Given the description of an element on the screen output the (x, y) to click on. 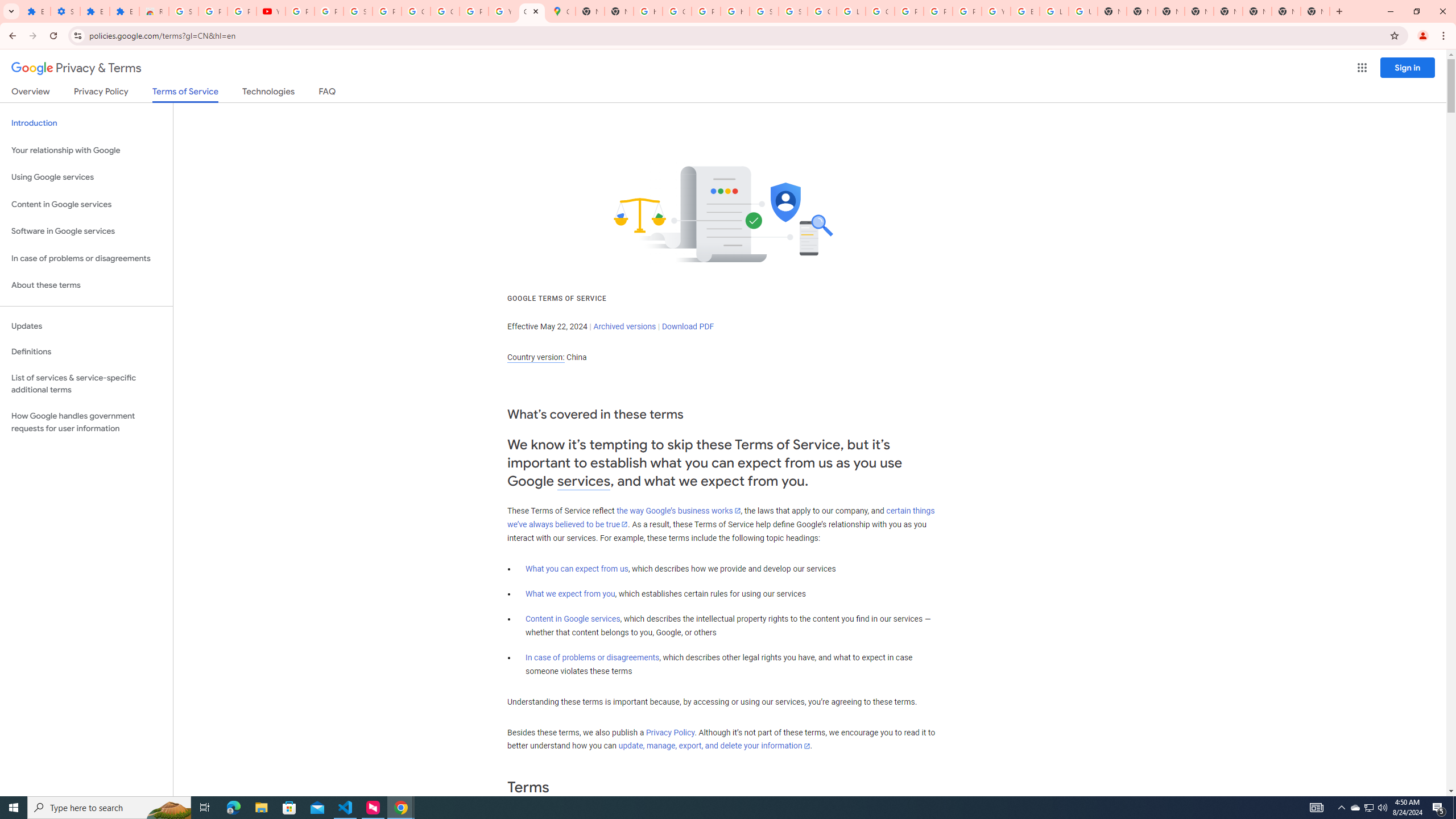
https://scholar.google.com/ (734, 11)
Privacy Help Center - Policies Help (938, 11)
Google Account (415, 11)
